Given the description of an element on the screen output the (x, y) to click on. 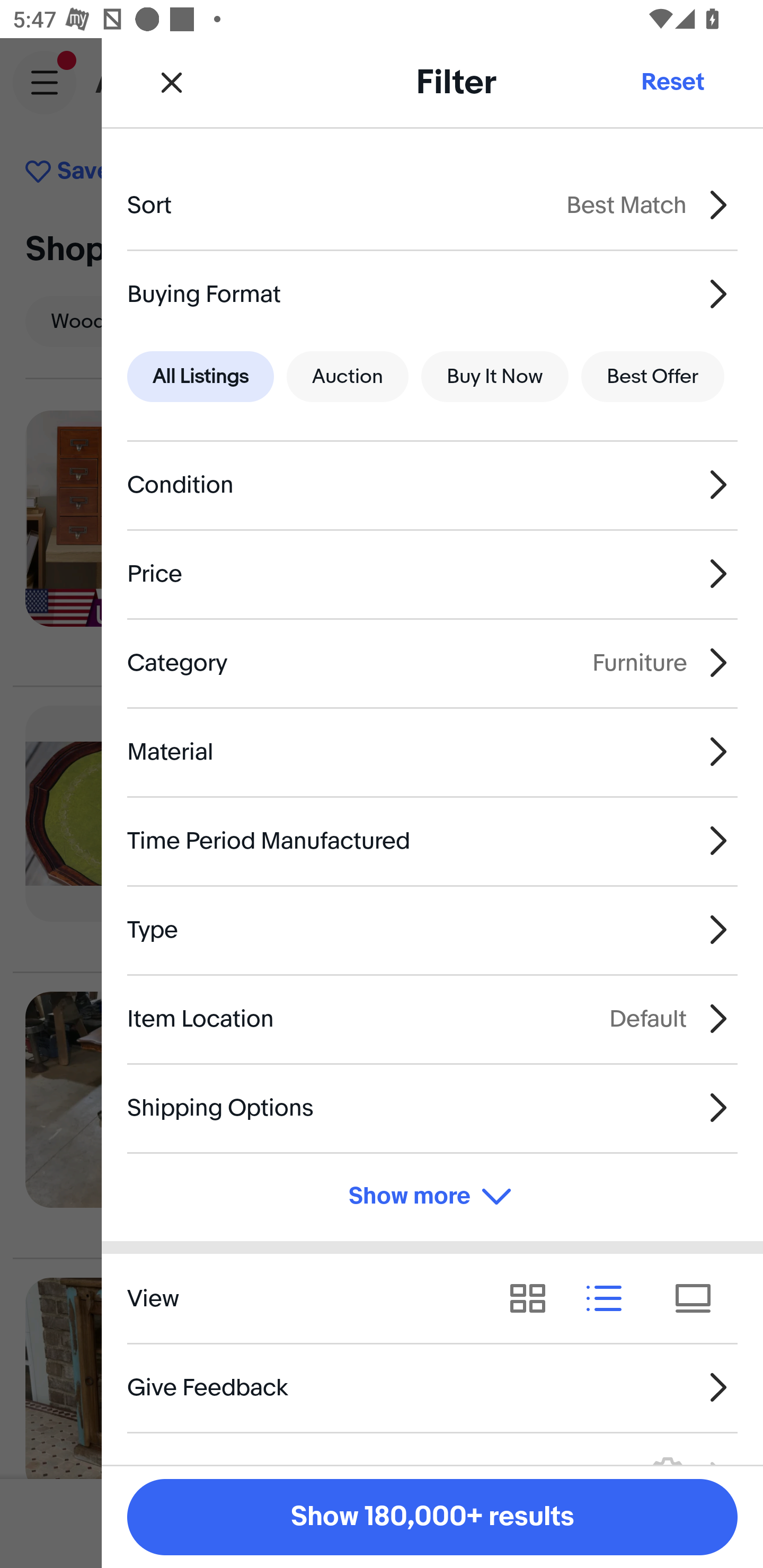
Close Filter (171, 81)
Reset (672, 81)
Buying Format (432, 293)
All Listings (200, 376)
Auction (347, 376)
Buy It Now (494, 376)
Best Offer (652, 376)
Condition (432, 484)
Price (432, 573)
Category Furniture (432, 662)
Material (432, 751)
Time Period Manufactured (432, 840)
Type (432, 929)
Item Location Default (432, 1018)
Shipping Options (432, 1107)
Show more (432, 1196)
View results as grid (533, 1297)
View results as list (610, 1297)
View results as tiles (699, 1297)
Show 180,000+ results (432, 1516)
